Given the description of an element on the screen output the (x, y) to click on. 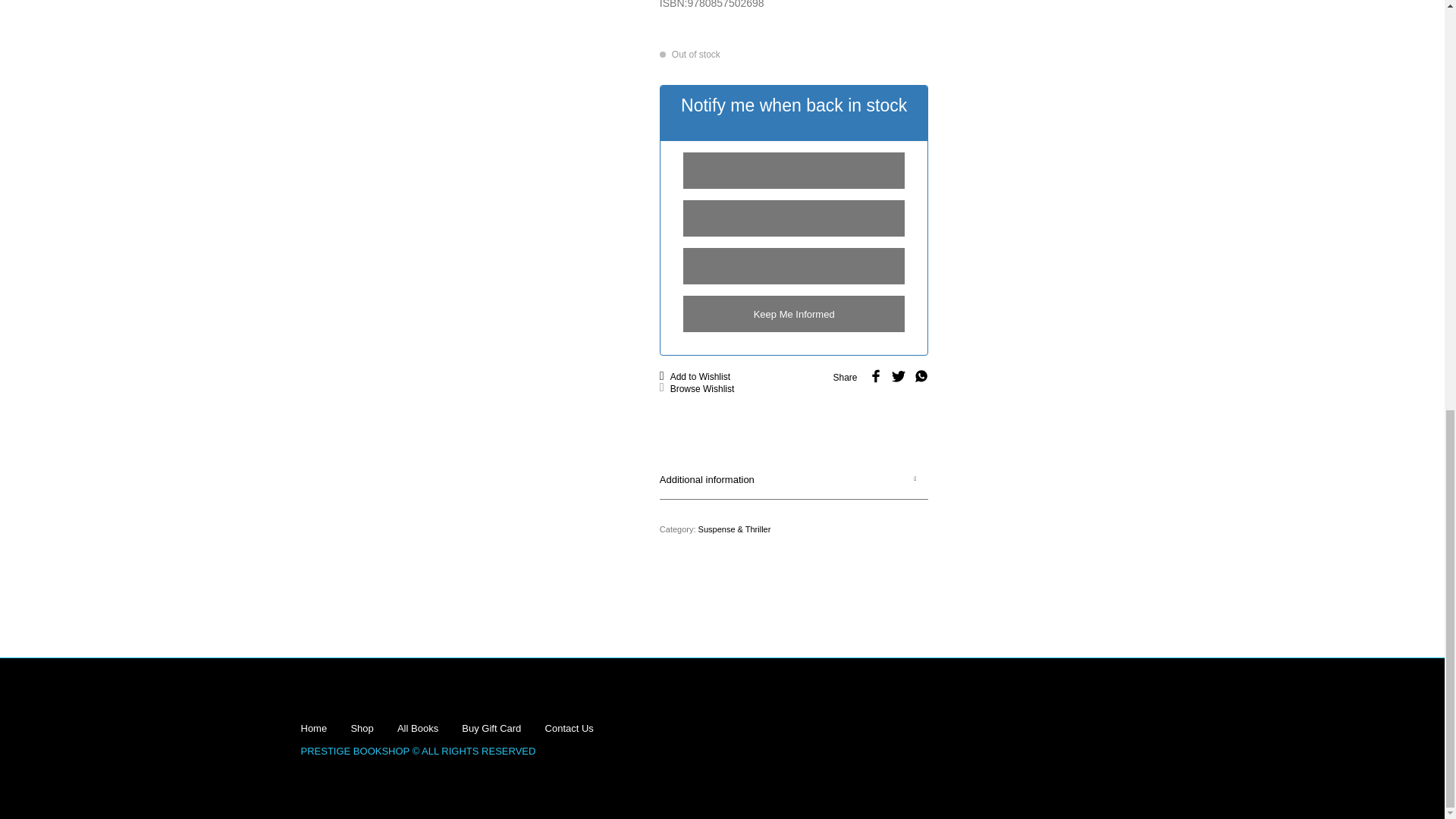
Keep me informed (793, 313)
